Given the description of an element on the screen output the (x, y) to click on. 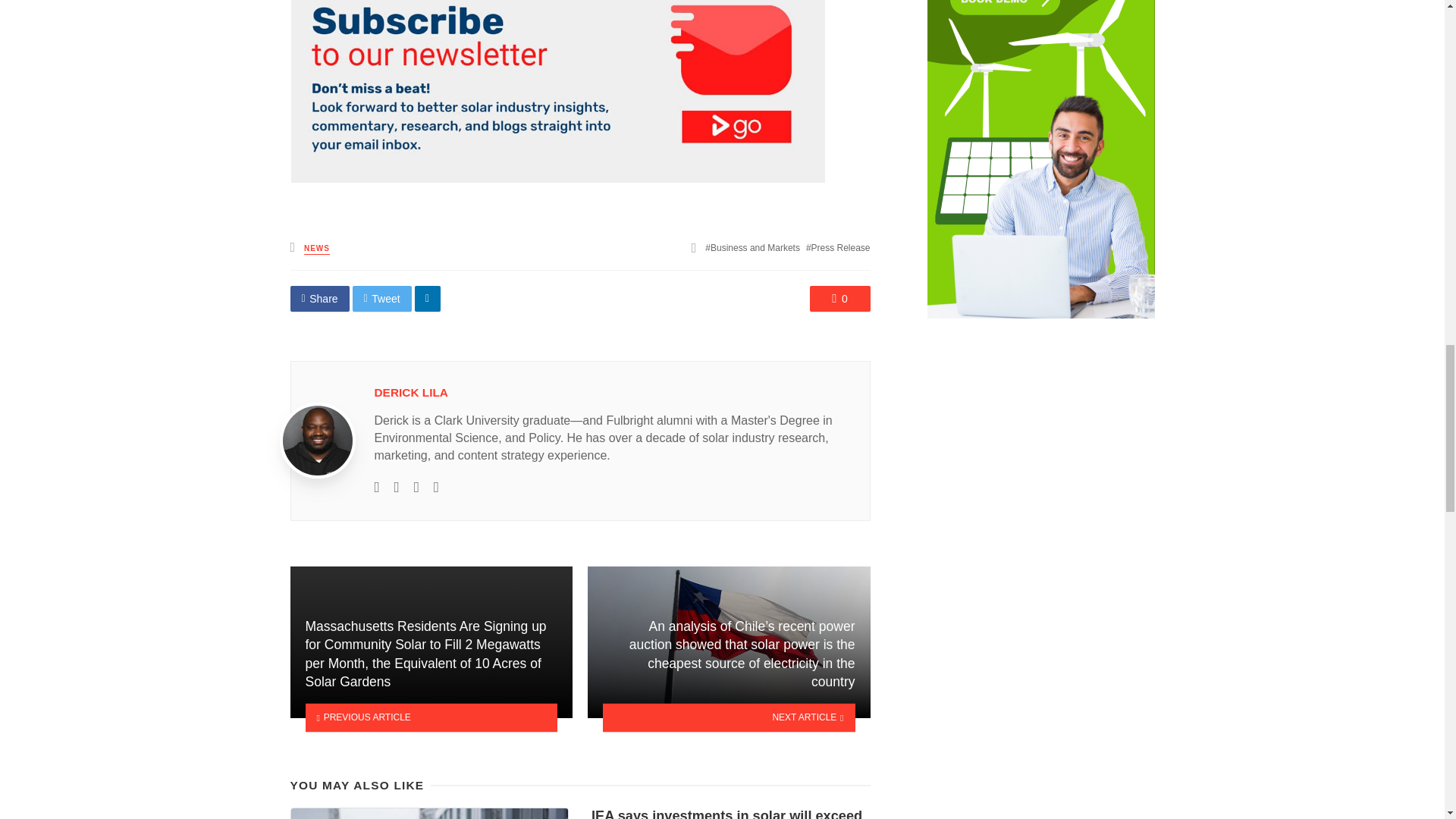
Share on Facebook (319, 298)
Share on Linkedin (427, 298)
Posts by Derick Lila (411, 391)
0 Comments (839, 298)
Share on Twitter (382, 298)
